Given the description of an element on the screen output the (x, y) to click on. 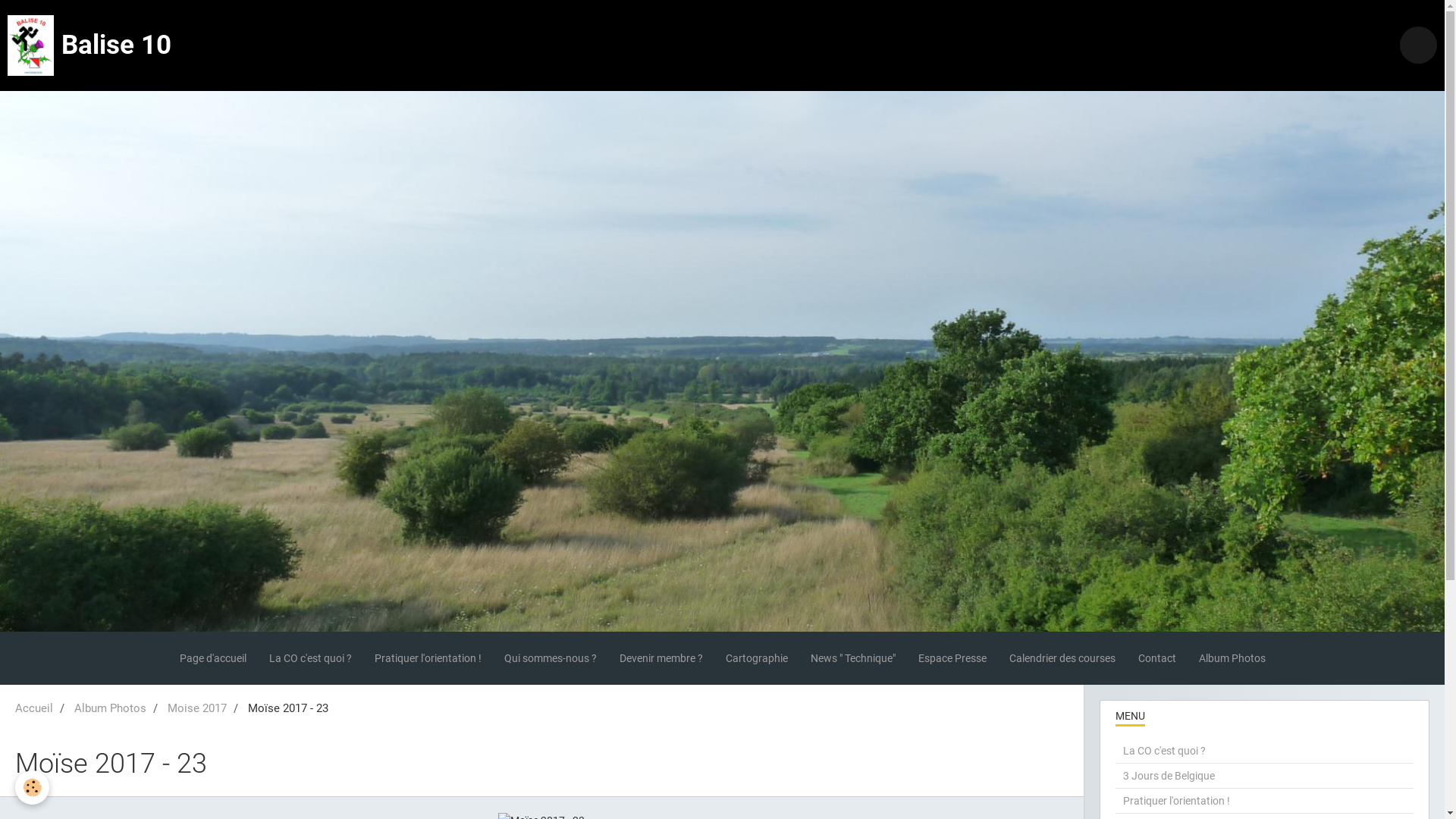
Moise 2017 Element type: text (196, 708)
Accueil Element type: text (34, 708)
News " Technique" Element type: text (852, 657)
Contact Element type: text (1156, 657)
La CO c'est quoi ? Element type: text (1264, 750)
Page d'accueil Element type: text (212, 657)
Pratiquer l'orientation ! Element type: text (1264, 800)
Pratiquer l'orientation ! Element type: text (427, 657)
Album Photos Element type: text (110, 708)
Espace Presse Element type: text (951, 657)
Calendrier des courses Element type: text (1061, 657)
Balise 10 Element type: text (89, 45)
3 Jours de Belgique Element type: text (1264, 775)
La CO c'est quoi ? Element type: text (310, 657)
Devenir membre ? Element type: text (661, 657)
Cartographie Element type: text (756, 657)
Qui sommes-nous ? Element type: text (550, 657)
Album Photos Element type: text (1232, 657)
